Given the description of an element on the screen output the (x, y) to click on. 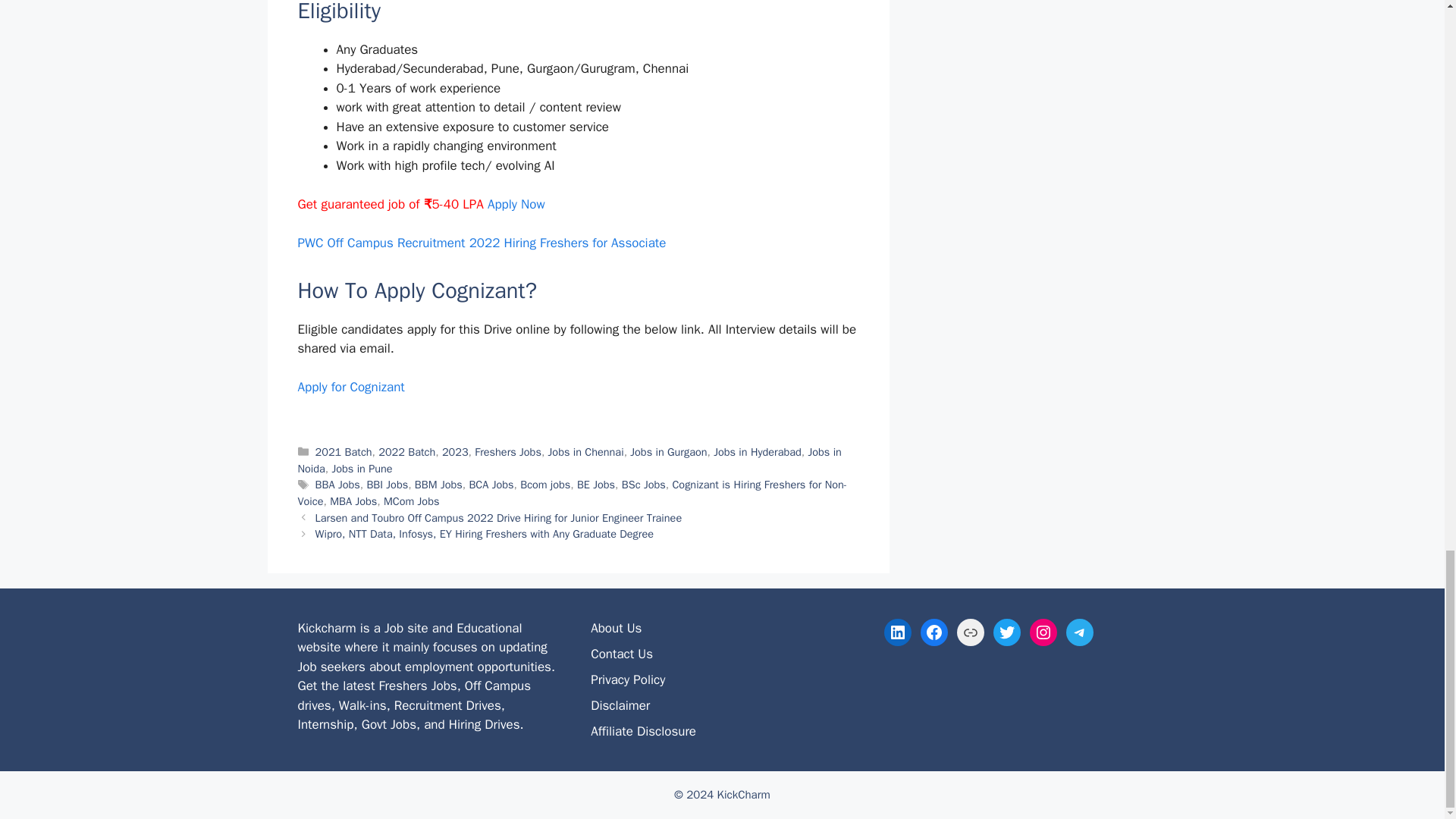
Apply Now (515, 204)
2021 Batch (343, 451)
Jobs in Gurgaon (668, 451)
Bcom jobs (544, 484)
BE Jobs (595, 484)
Jobs in Hyderabad (757, 451)
Jobs in Chennai (586, 451)
BCA Jobs (490, 484)
Apply for Cognizant (350, 386)
